Given the description of an element on the screen output the (x, y) to click on. 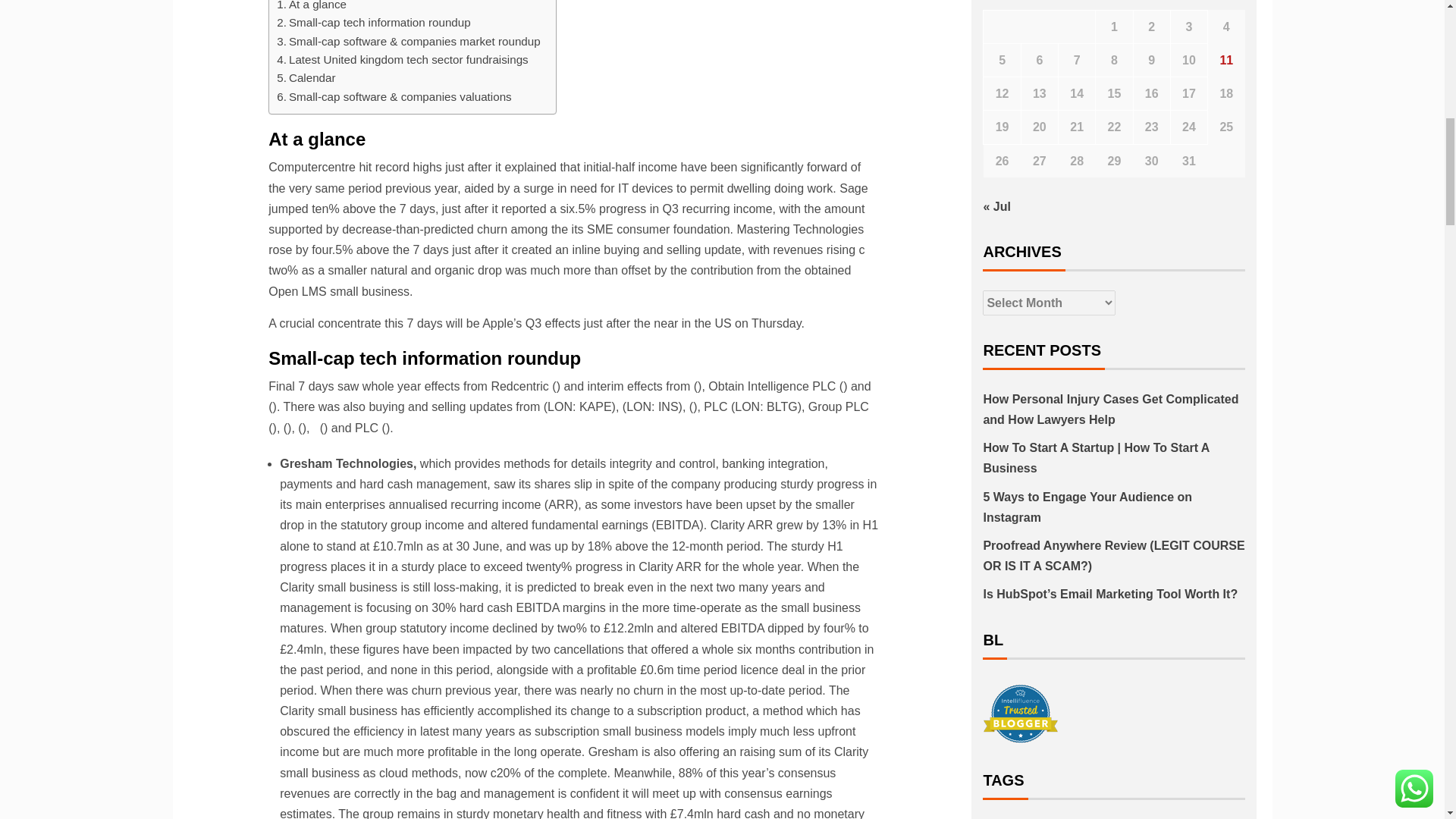
Calendar  (307, 77)
At a glance (311, 6)
Latest United kingdom tech sector fundraisings (401, 59)
Small-cap tech information roundup (373, 22)
Latest United kingdom tech sector fundraisings (401, 59)
Small-cap tech information roundup (373, 22)
At a glance (311, 6)
